Given the description of an element on the screen output the (x, y) to click on. 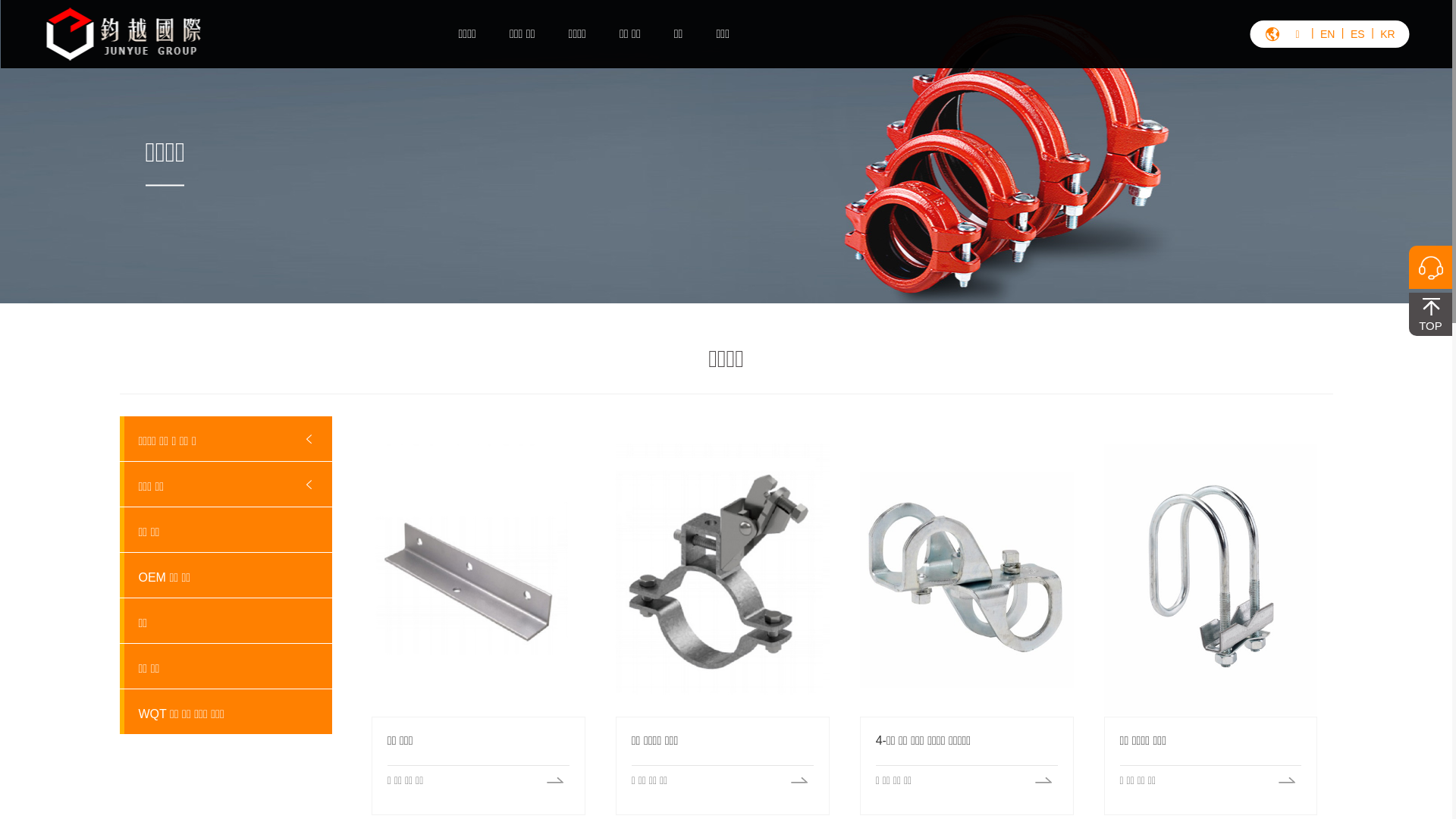
KR Element type: text (1387, 33)
EN Element type: text (1327, 33)
ENTER Element type: text (1374, 85)
ES Element type: text (1357, 33)
